Given the description of an element on the screen output the (x, y) to click on. 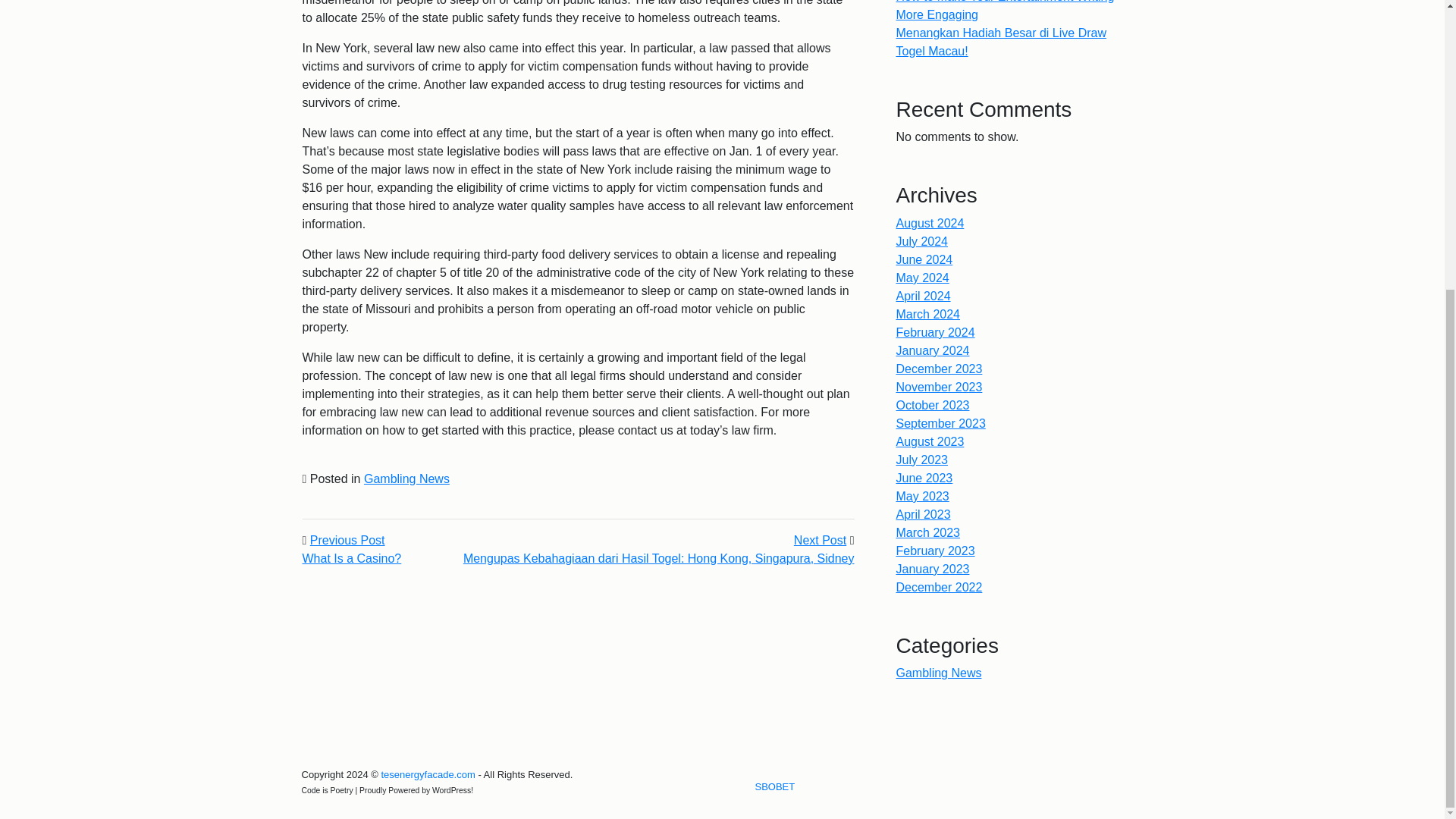
April 2024 (347, 540)
March 2023 (923, 295)
January 2024 (928, 532)
SBOBET (932, 350)
Gambling News (775, 786)
March 2024 (938, 672)
January 2023 (928, 314)
July 2024 (932, 568)
tesenergyfacade.com (922, 241)
June 2023 (427, 774)
What Is a Casino? (924, 477)
Menangkan Hadiah Besar di Live Draw Togel Macau! (351, 558)
